Given the description of an element on the screen output the (x, y) to click on. 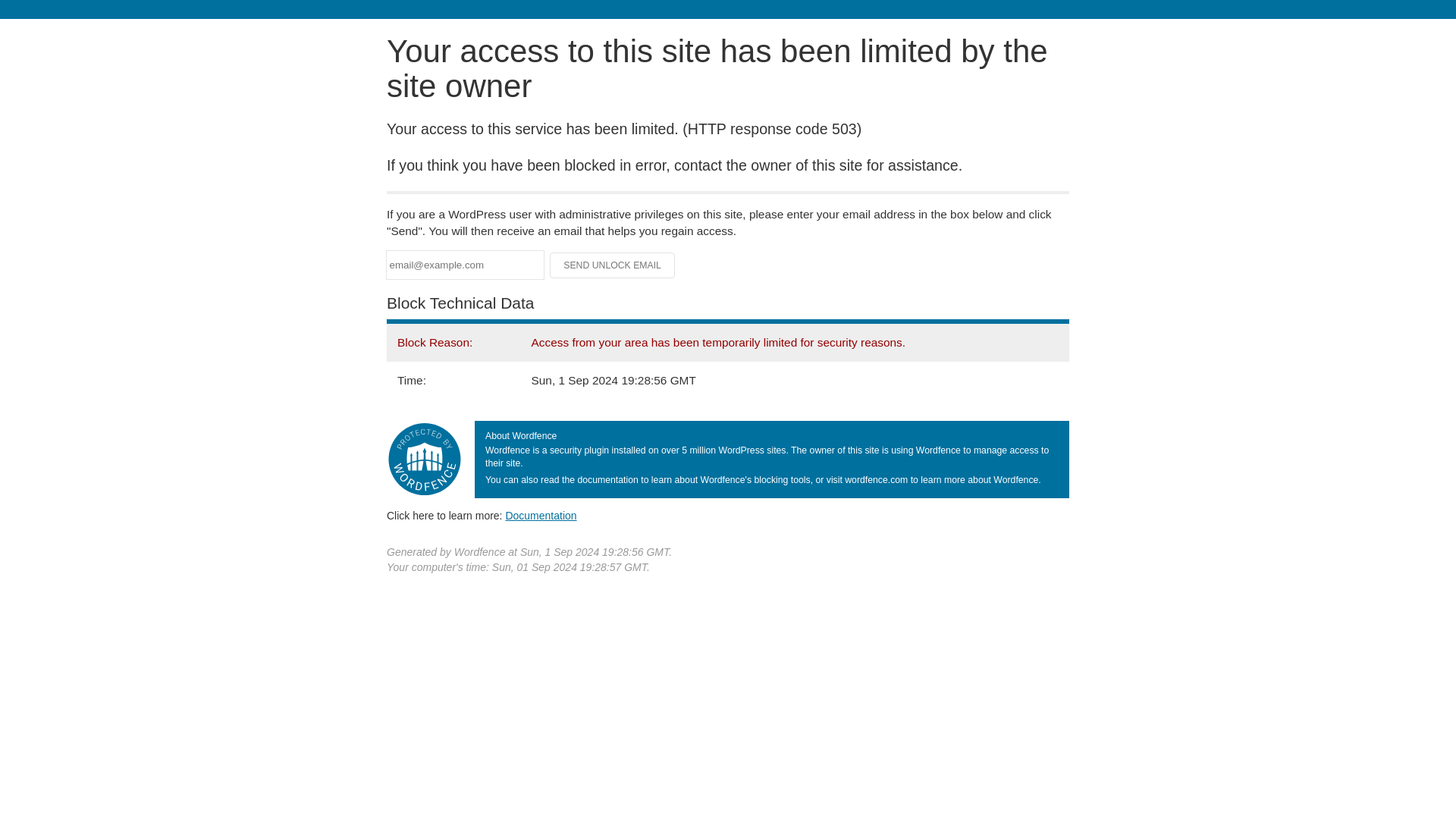
Send Unlock Email (612, 265)
Documentation (540, 515)
Send Unlock Email (612, 265)
